Given the description of an element on the screen output the (x, y) to click on. 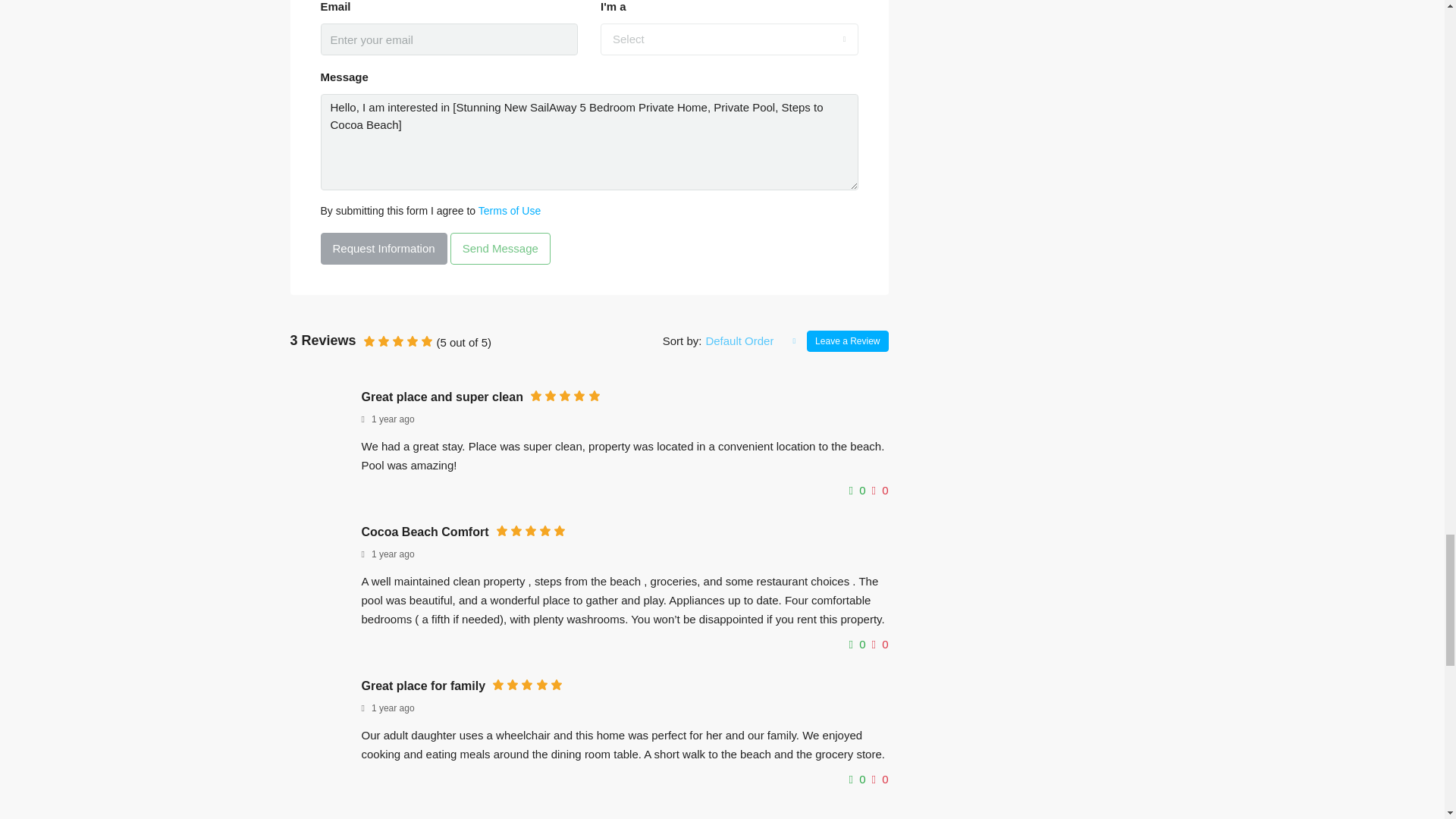
Default Order (750, 341)
Select (729, 39)
